Given the description of an element on the screen output the (x, y) to click on. 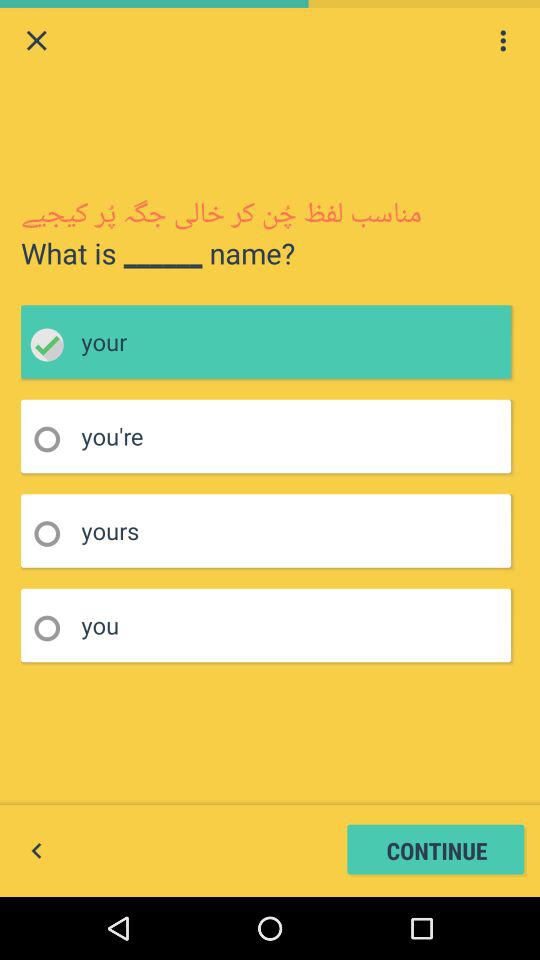
bookmark (53, 628)
